Given the description of an element on the screen output the (x, y) to click on. 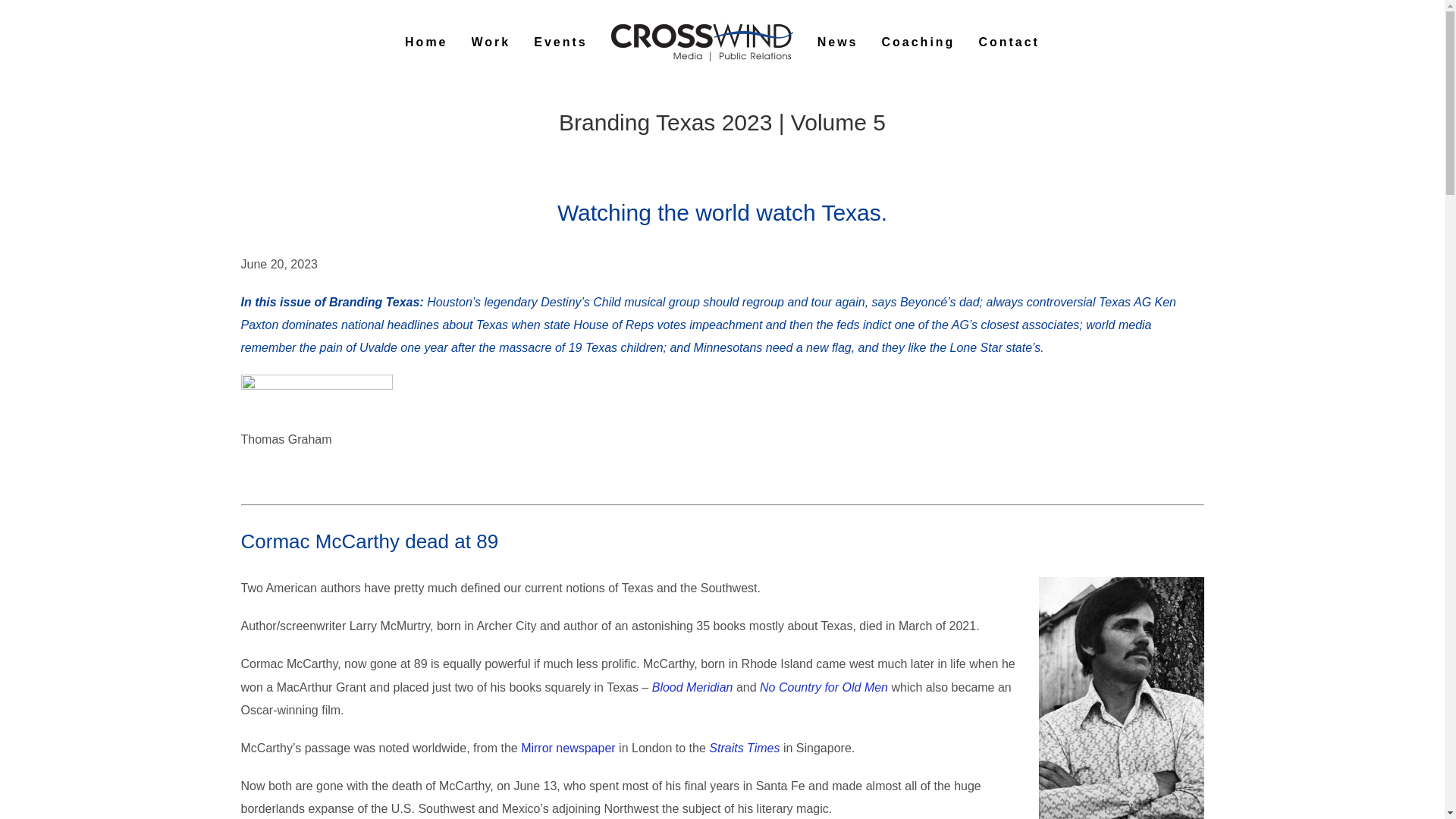
Contact (1008, 42)
Coaching (917, 42)
